Given the description of an element on the screen output the (x, y) to click on. 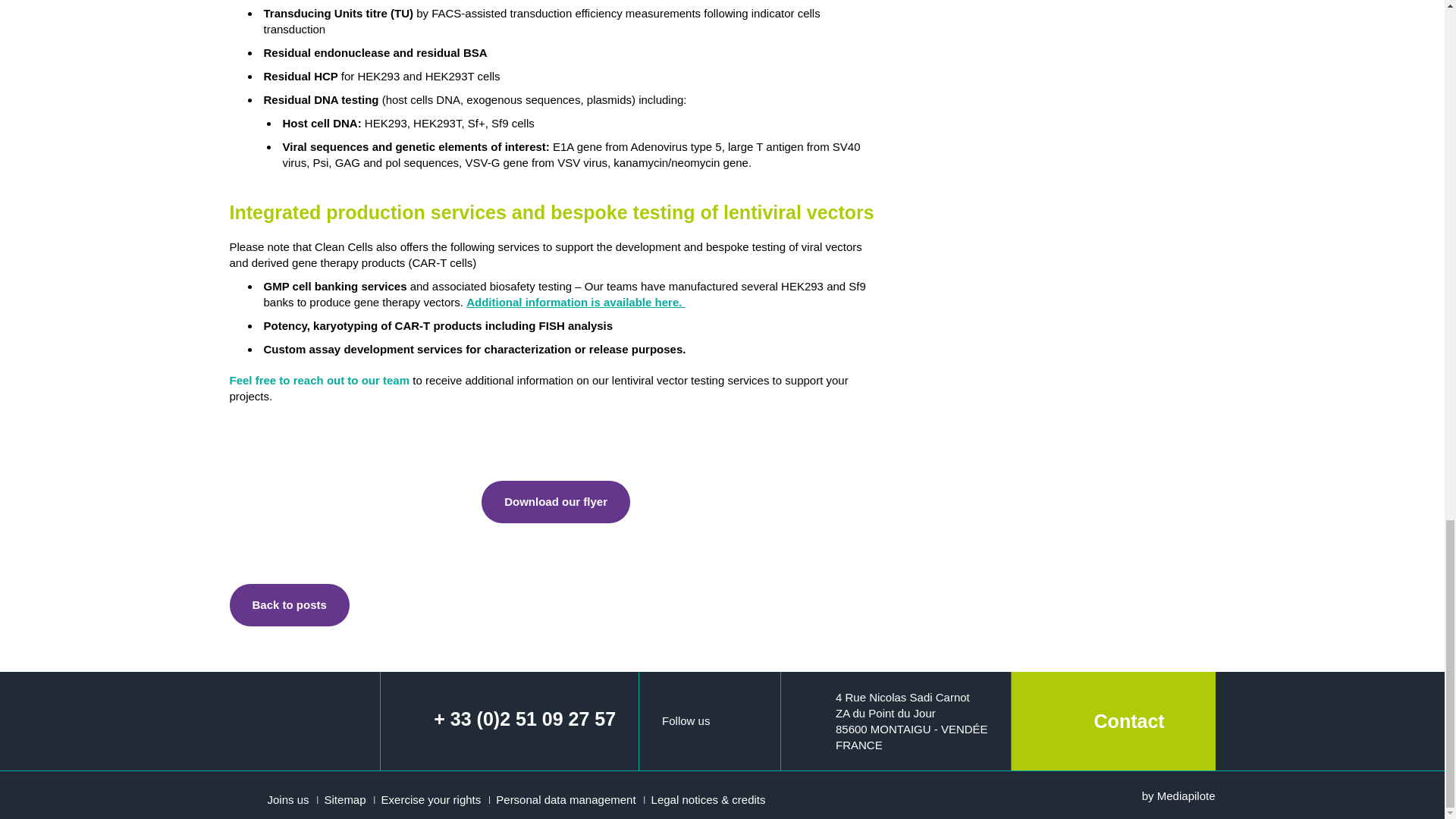
Back to posts (288, 604)
Feel free to reach out to our team (318, 379)
Additional information is available here.  (574, 301)
